Given the description of an element on the screen output the (x, y) to click on. 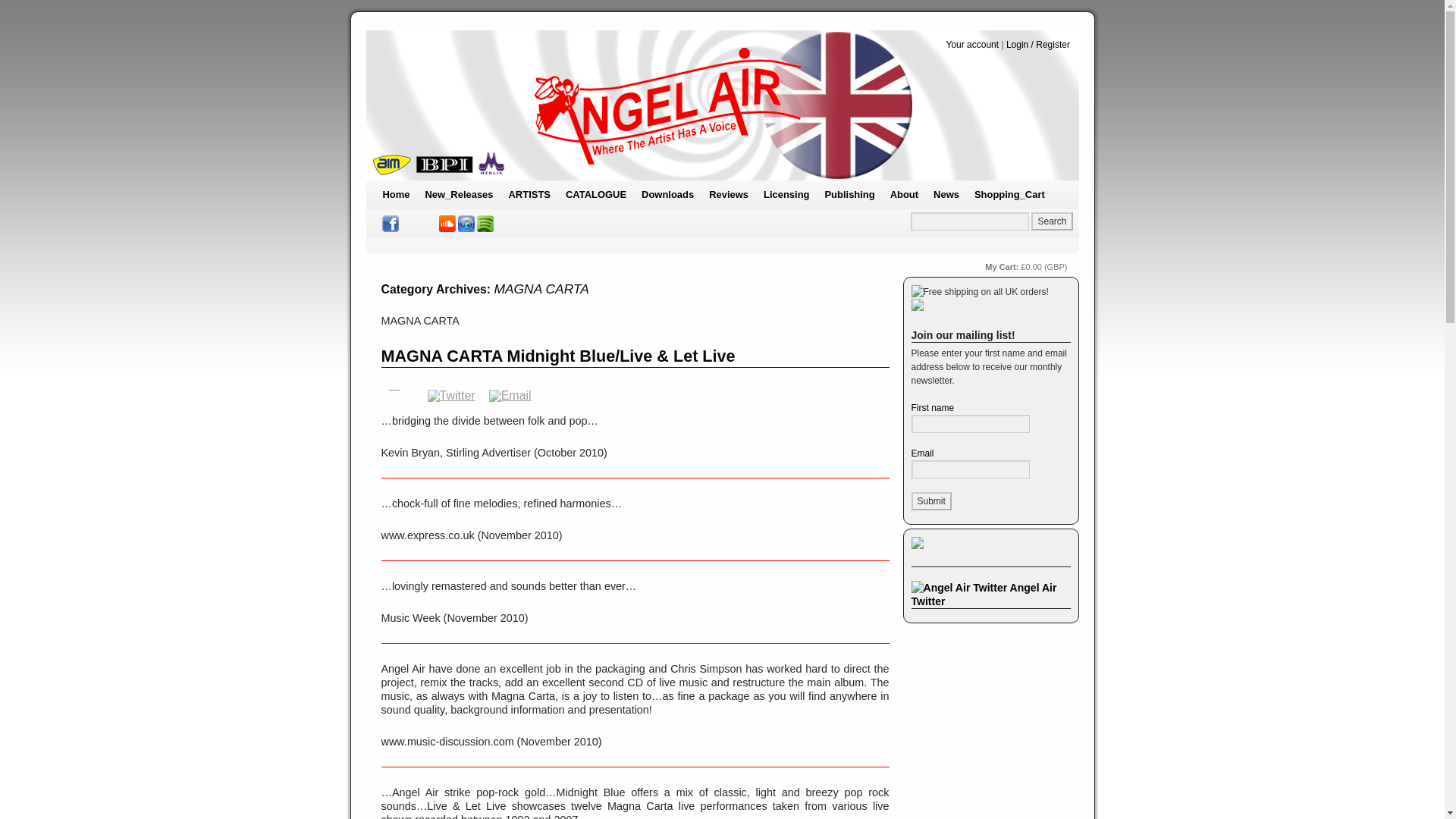
Spotify (485, 223)
About (904, 194)
Twitter (450, 394)
Downloads (667, 194)
Search (1050, 221)
Publishing (849, 194)
Angel Air Facebook (389, 223)
Submit (931, 501)
Email (509, 394)
CATALOGUE (595, 194)
News (946, 194)
Reviews (728, 194)
Your account (972, 44)
ARTISTS (528, 194)
Licensing (785, 194)
